Given the description of an element on the screen output the (x, y) to click on. 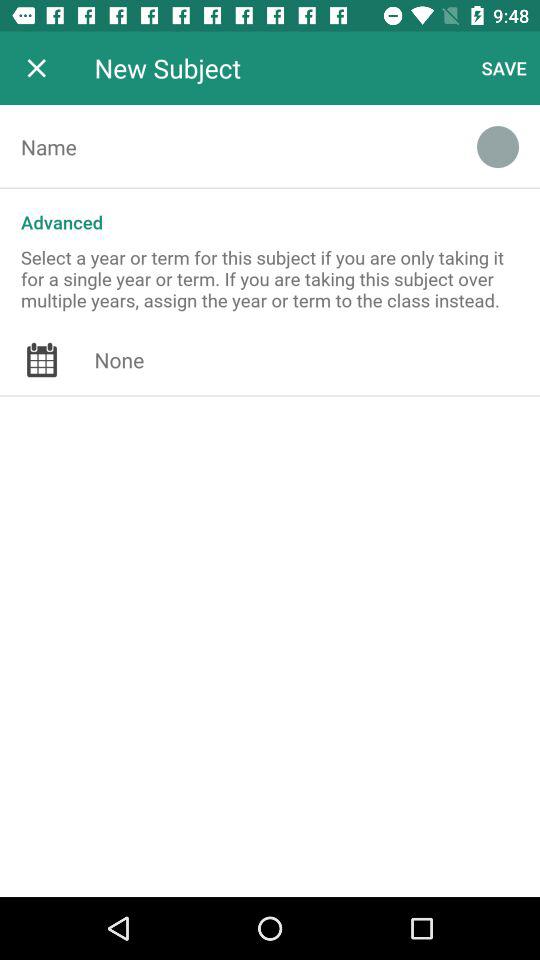
click the item below save icon (498, 147)
